Given the description of an element on the screen output the (x, y) to click on. 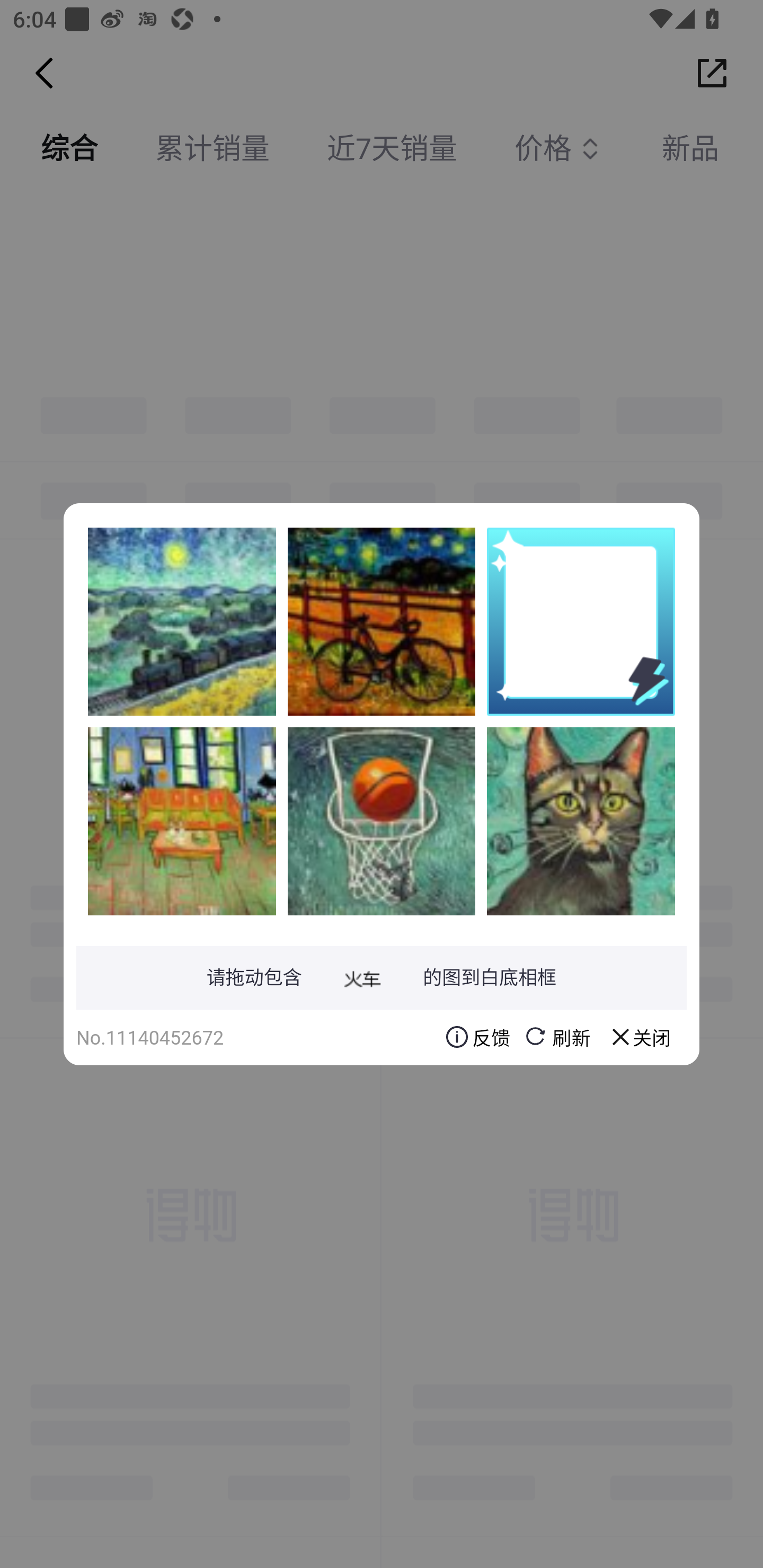
rdVf (181, 621)
9kf500KQXw74+O (381, 621)
